Given the description of an element on the screen output the (x, y) to click on. 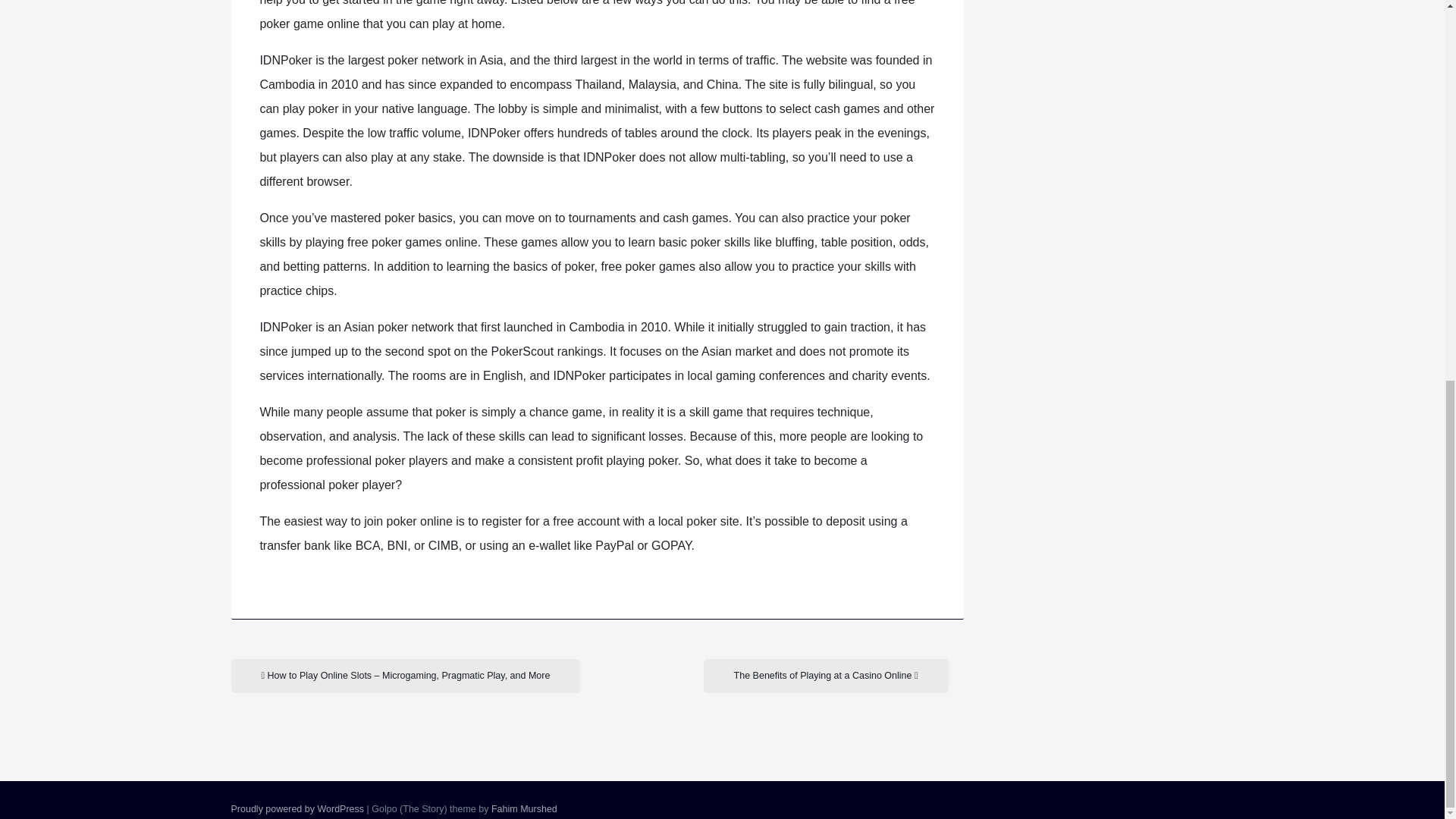
The Benefits of Playing at a Casino Online (826, 675)
Fahim Murshed (524, 808)
Proudly powered by WordPress (297, 808)
